Given the description of an element on the screen output the (x, y) to click on. 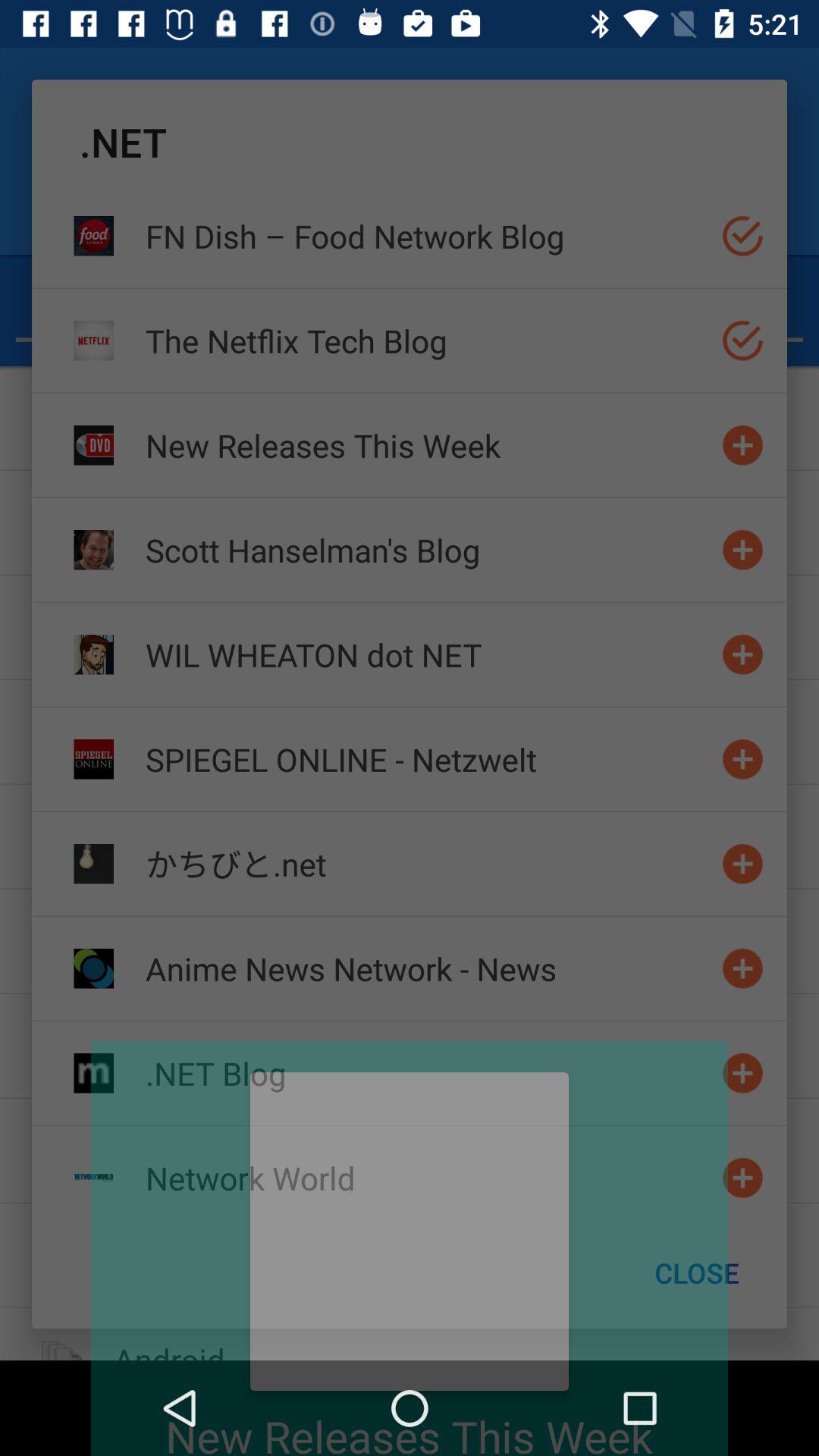
switch autoplay option (742, 968)
